Given the description of an element on the screen output the (x, y) to click on. 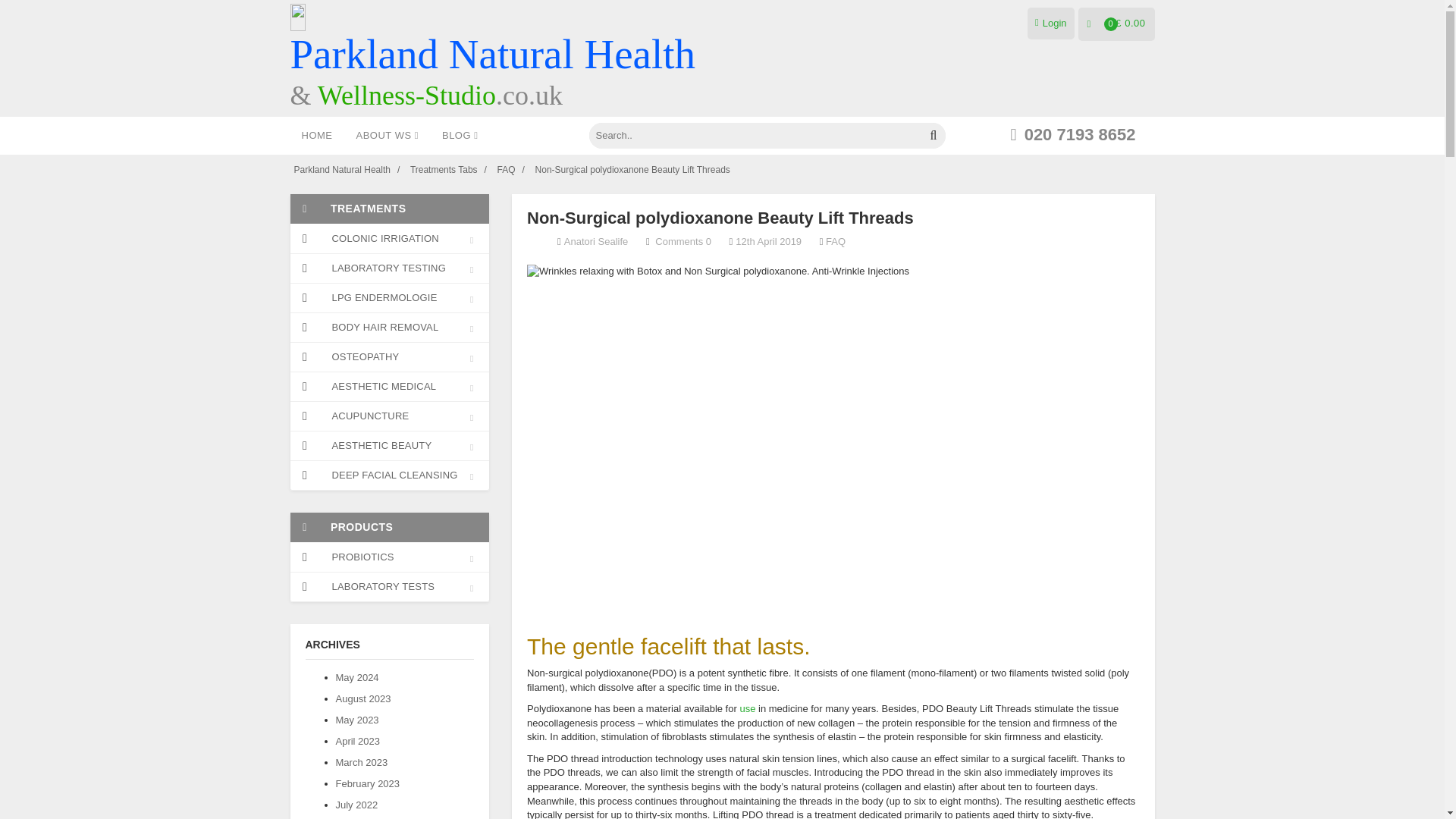
FAQ (506, 169)
Go to Parkland Natural Health. (342, 169)
Go to Non-Surgical polydioxanone Beauty Lift Threads. (632, 169)
020 7193 8652 (1072, 134)
Parkland Natural Health (342, 169)
Go to the Treatments Tabs category archives. (443, 169)
HOME (316, 135)
Treatments Tabs (443, 169)
ABOUT WS (386, 135)
Go to the FAQ category archives. (506, 169)
